Given the description of an element on the screen output the (x, y) to click on. 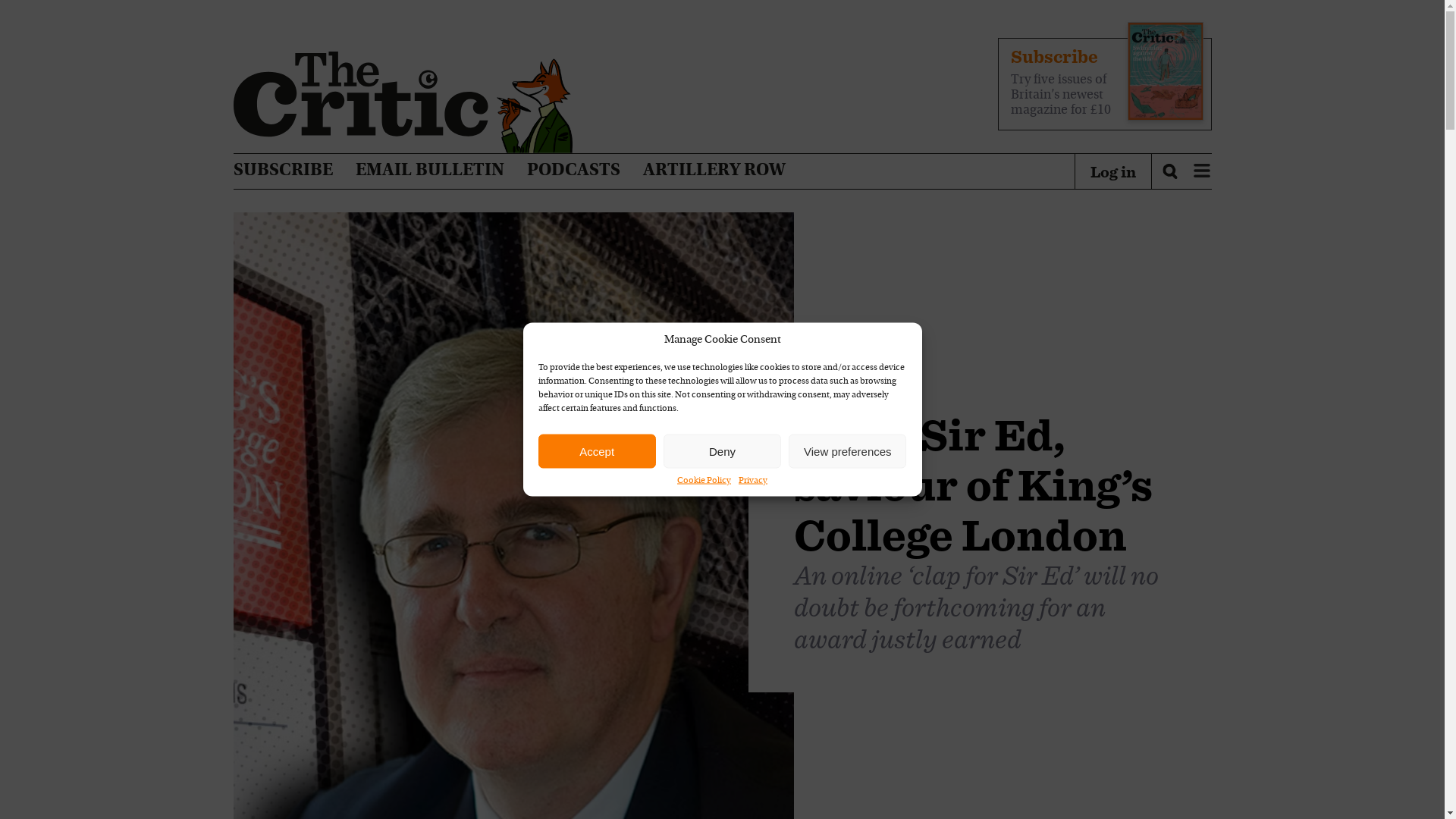
View preferences (847, 450)
PODCASTS (572, 171)
ARTILLERY ROW (714, 171)
Cookie Policy (703, 480)
Accept (597, 450)
Log in (1112, 171)
Privacy (752, 480)
Deny (721, 450)
SUBSCRIBE (282, 171)
EMAIL BULLETIN (429, 171)
